Given the description of an element on the screen output the (x, y) to click on. 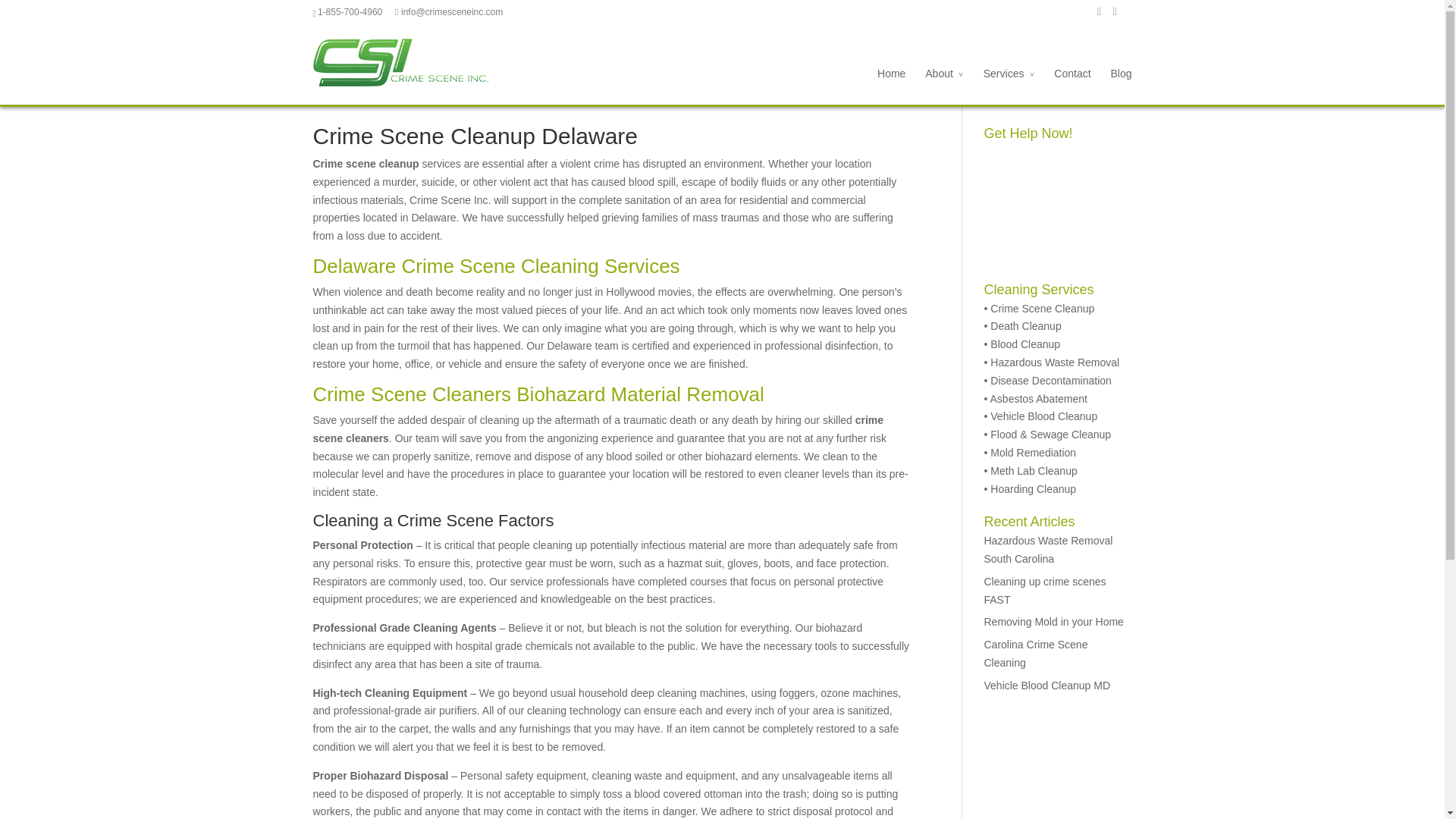
Meth Lab Cleanup (1033, 470)
Cleaning up crime scenes FAST (1045, 590)
Hoarding Cleanup (1032, 489)
About (943, 84)
Home (891, 84)
Vehicle Blood Cleanup (1043, 416)
Death Cleanup (1025, 326)
Crime Scene Cleanup (1042, 308)
Mold Remediation (1032, 452)
Disease Decontamination (1051, 380)
Removing Mold in your Home (1054, 621)
Hazardous Waste Removal (1054, 362)
Blood Cleanup (1024, 344)
Blog (1120, 84)
Hazardous Waste Removal South Carolina (1048, 549)
